Given the description of an element on the screen output the (x, y) to click on. 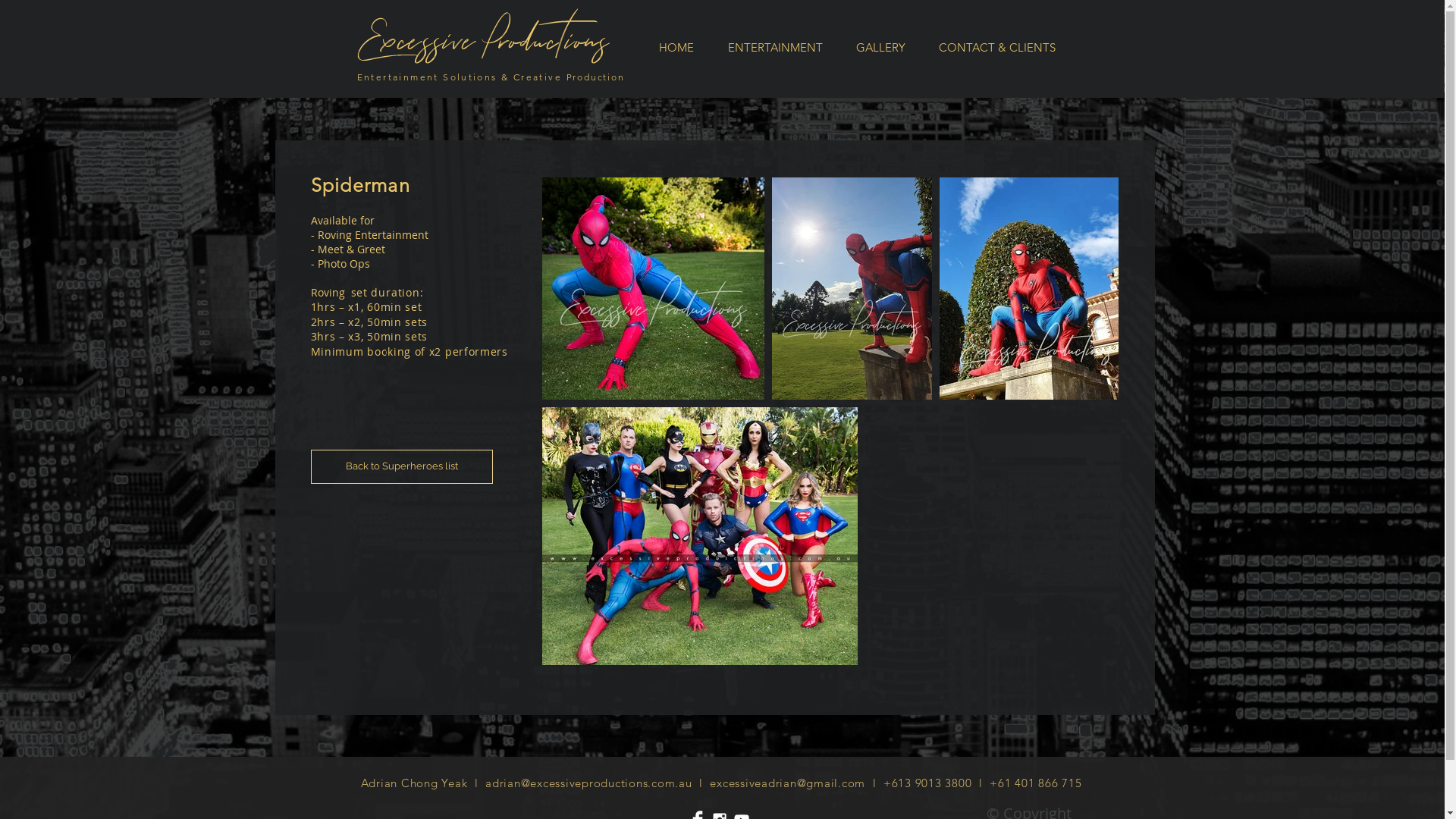
excessiveadrian@gmail.com Element type: text (787, 782)
GALLERY Element type: text (879, 47)
roductions Element type: text (552, 40)
Back to Superheroes list Element type: text (401, 466)
P Element type: text (489, 42)
HOME Element type: text (675, 47)
adrian@excessiveproductions.com.au Element type: text (588, 782)
Spiderman Element type: text (360, 184)
Excessive Element type: text (418, 40)
CONTACT & CLIENTS Element type: text (997, 47)
